Given the description of an element on the screen output the (x, y) to click on. 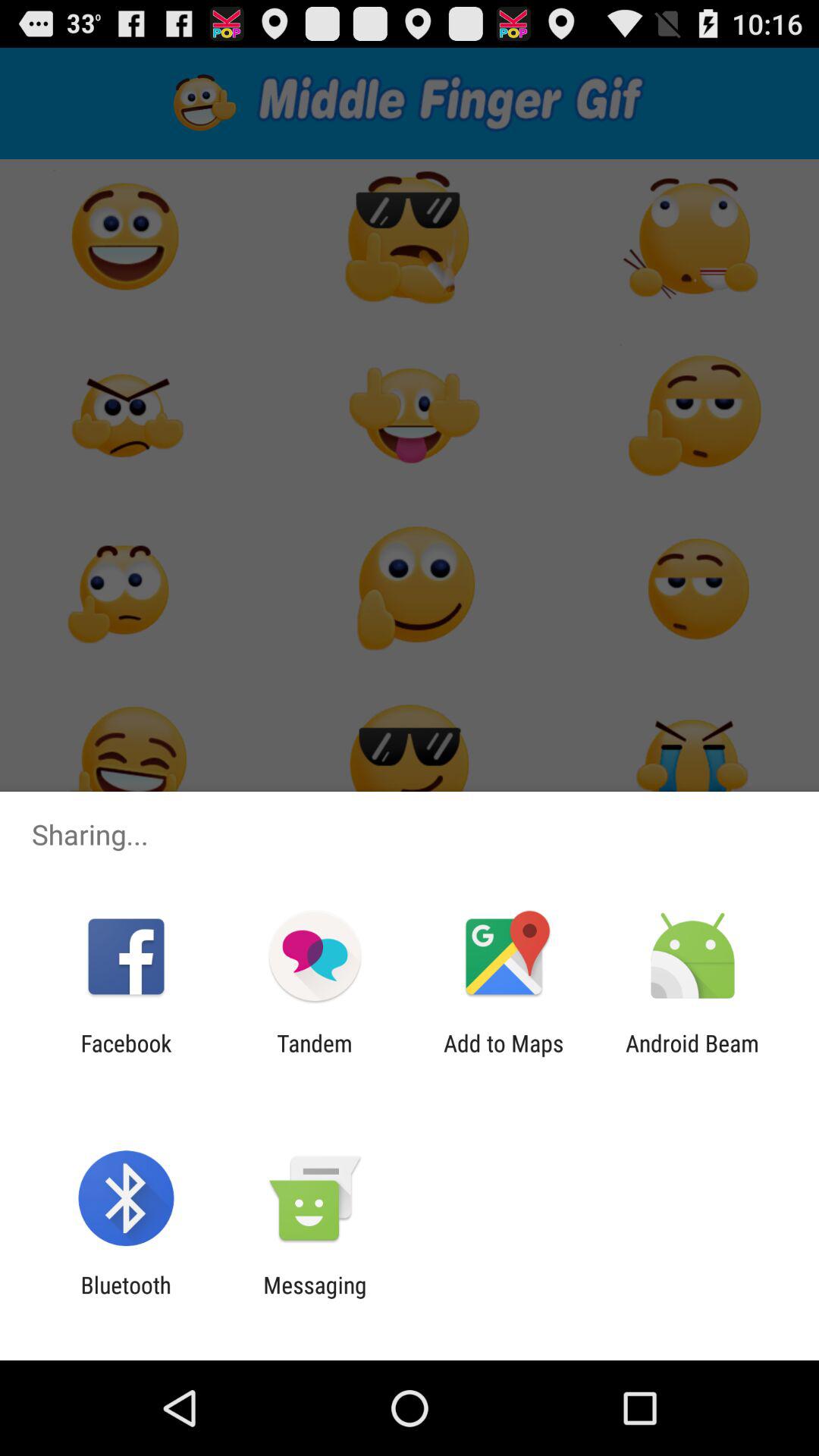
turn off the item next to messaging icon (125, 1298)
